Given the description of an element on the screen output the (x, y) to click on. 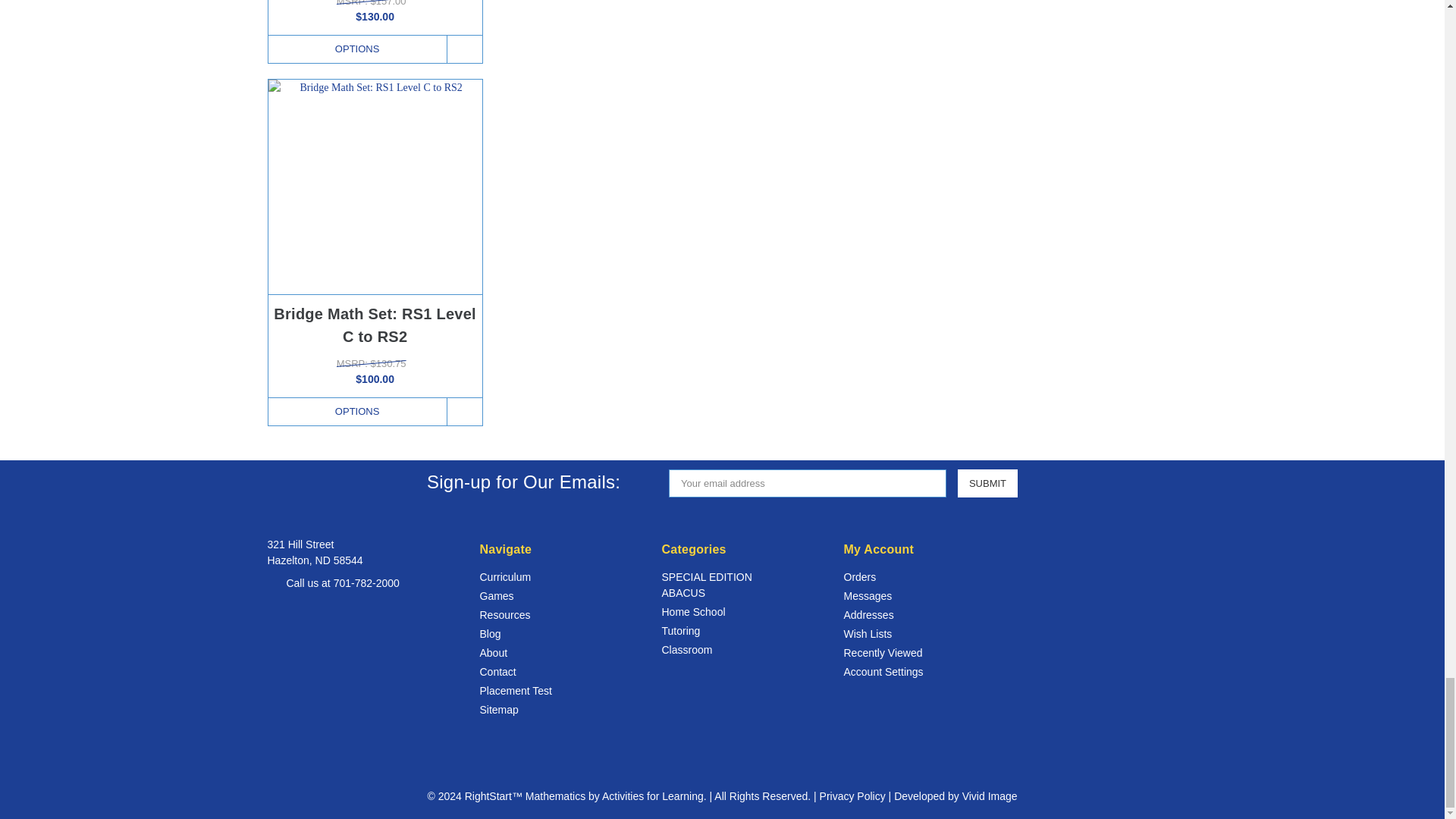
Submit (987, 483)
Bridge Math Set: RS1 Level C to RS2 (374, 186)
